Given the description of an element on the screen output the (x, y) to click on. 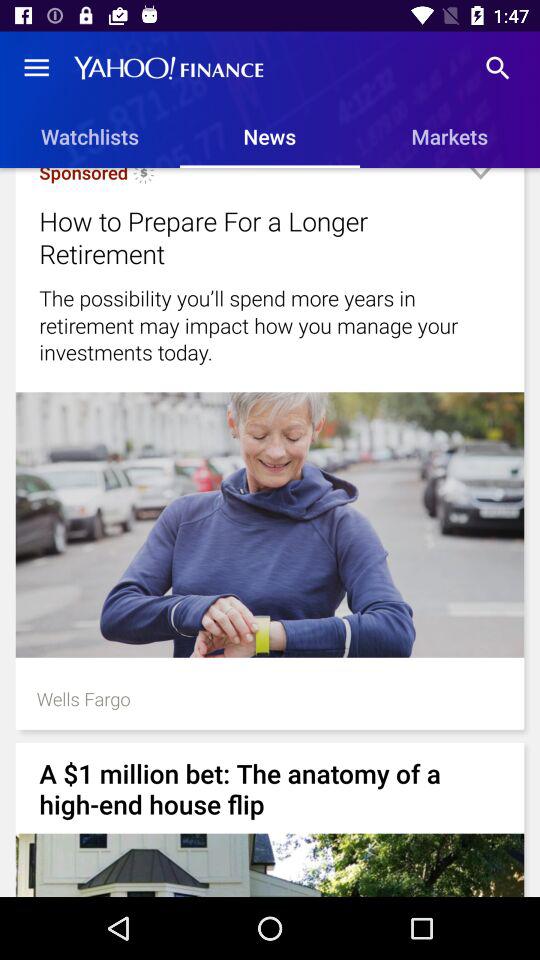
select the item to the right of sponsored (143, 179)
